Given the description of an element on the screen output the (x, y) to click on. 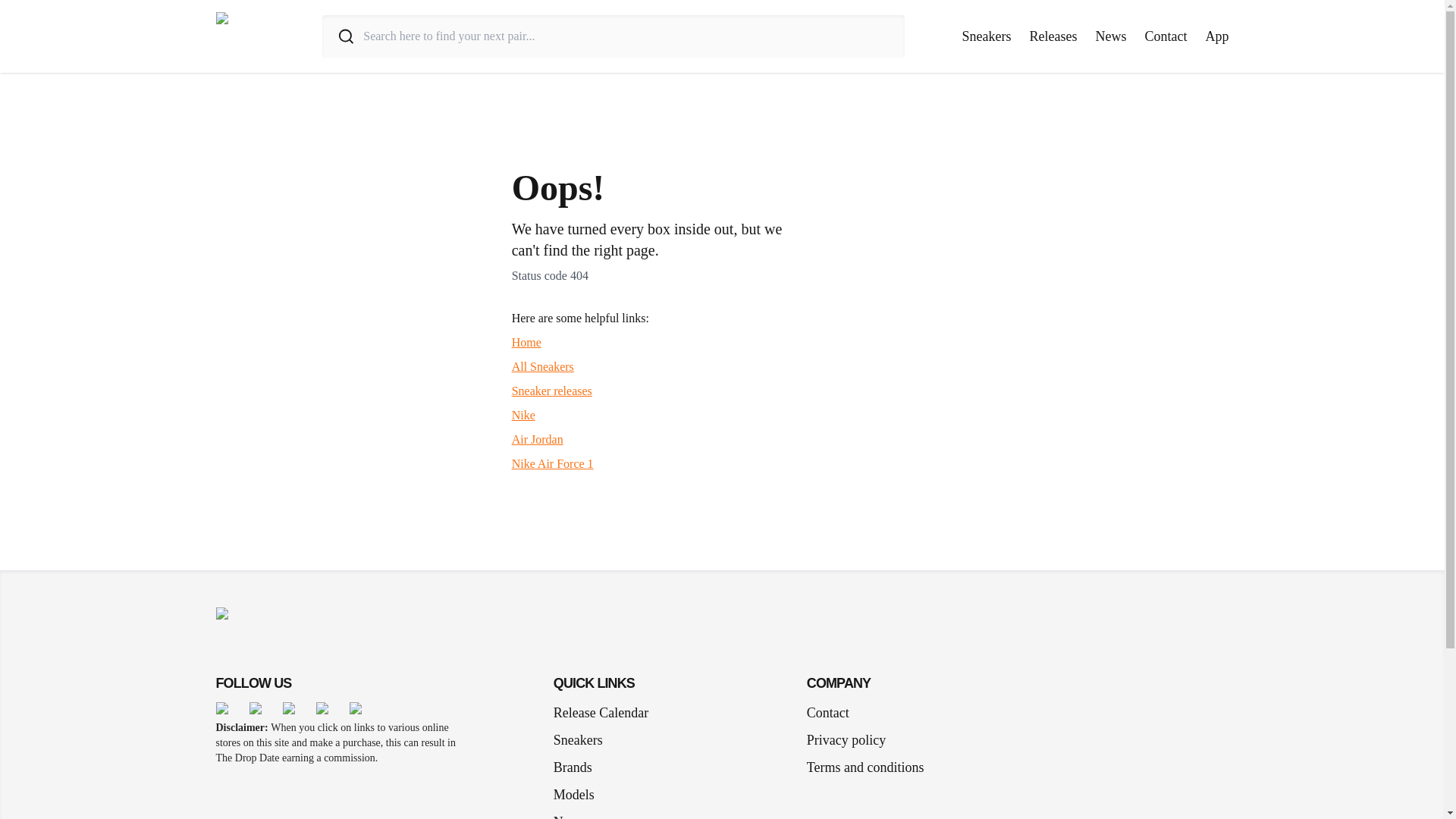
Sneakers (986, 36)
Brands (578, 767)
Privacy policy (845, 740)
App (1216, 36)
Home (526, 341)
Nike (523, 414)
Contact (1166, 36)
Air Jordan (537, 439)
Terms and conditions (865, 767)
Release Calendar (600, 712)
News (1109, 36)
Nike Air Force 1 (553, 463)
All Sneakers (542, 366)
Contact (827, 712)
Releases (1053, 36)
